Given the description of an element on the screen output the (x, y) to click on. 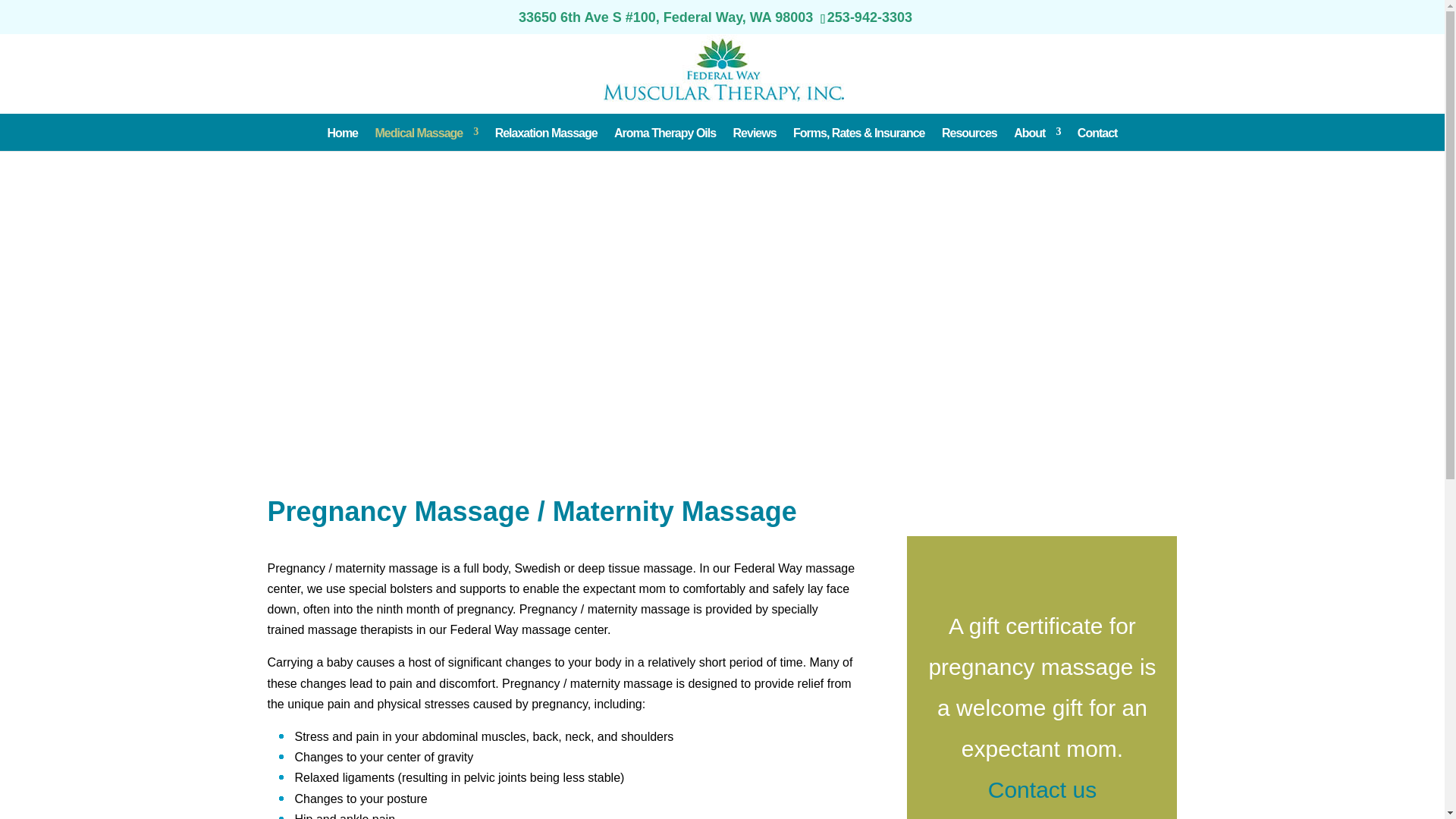
About (1036, 131)
Medical Massage (425, 131)
Reviews (754, 131)
Contact (1097, 131)
Resources (969, 131)
Relaxation Massage (545, 131)
Aroma Therapy Oils (665, 131)
